Given the description of an element on the screen output the (x, y) to click on. 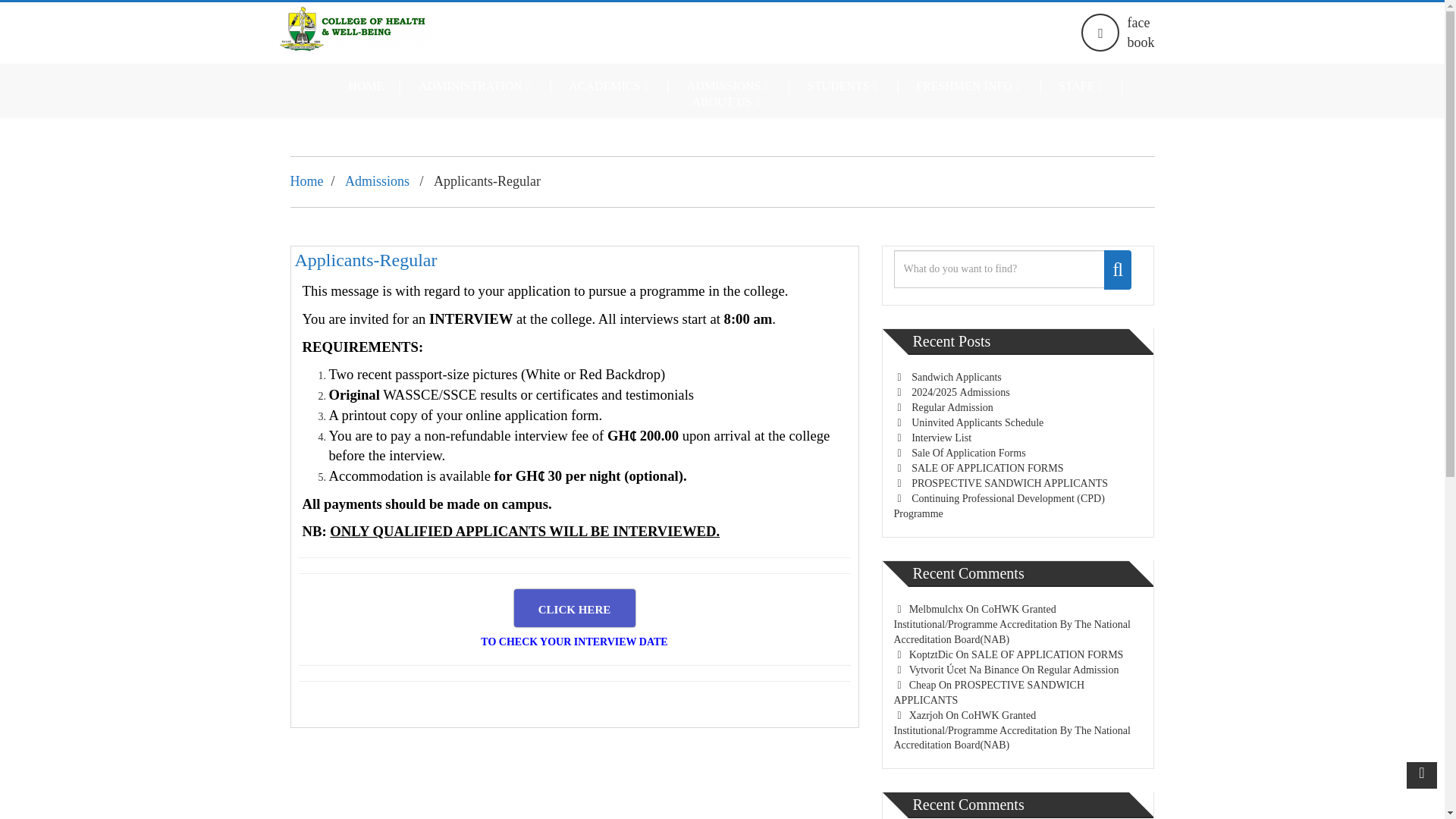
Click to download Memo (573, 607)
ADMINISTRATION (477, 86)
FRESHMEN INFO (971, 86)
ADMISSIONS (730, 86)
HOME (366, 86)
ACADEMICS (610, 86)
STUDENTS (845, 86)
